Given the description of an element on the screen output the (x, y) to click on. 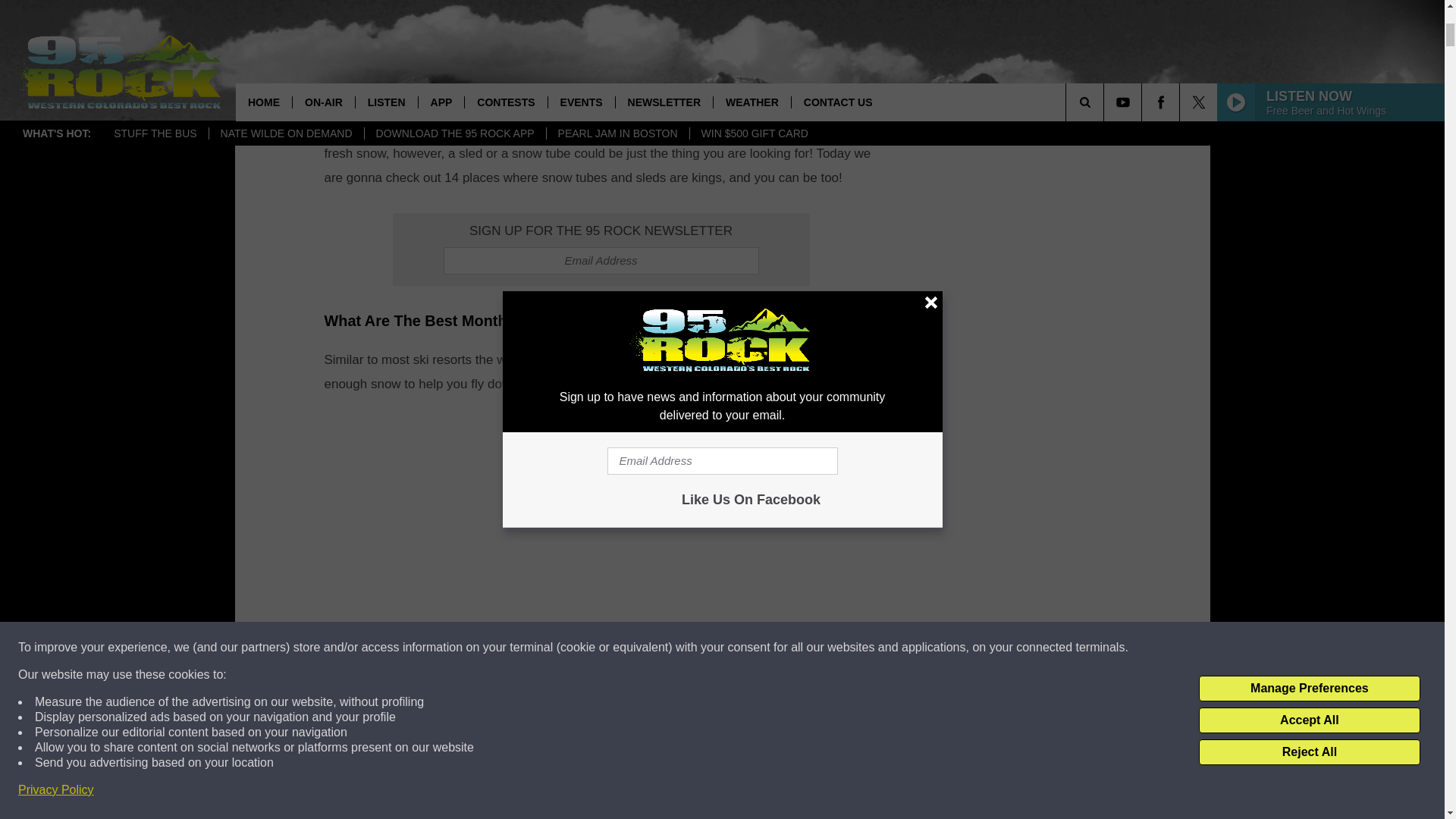
Email Address (600, 260)
